Given the description of an element on the screen output the (x, y) to click on. 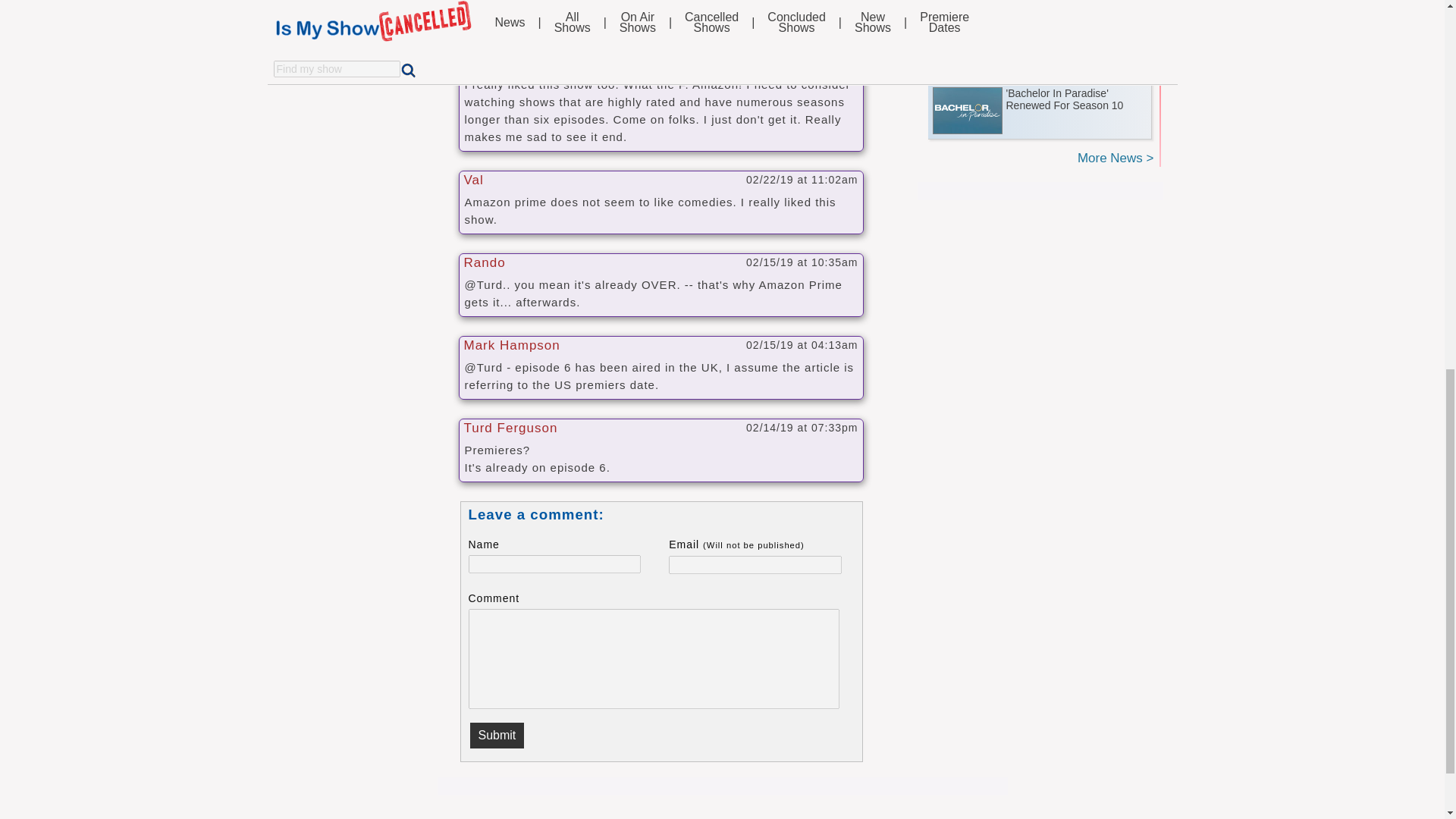
Submit (497, 735)
Sharon Horgan (378, 7)
Submit (497, 735)
